Given the description of an element on the screen output the (x, y) to click on. 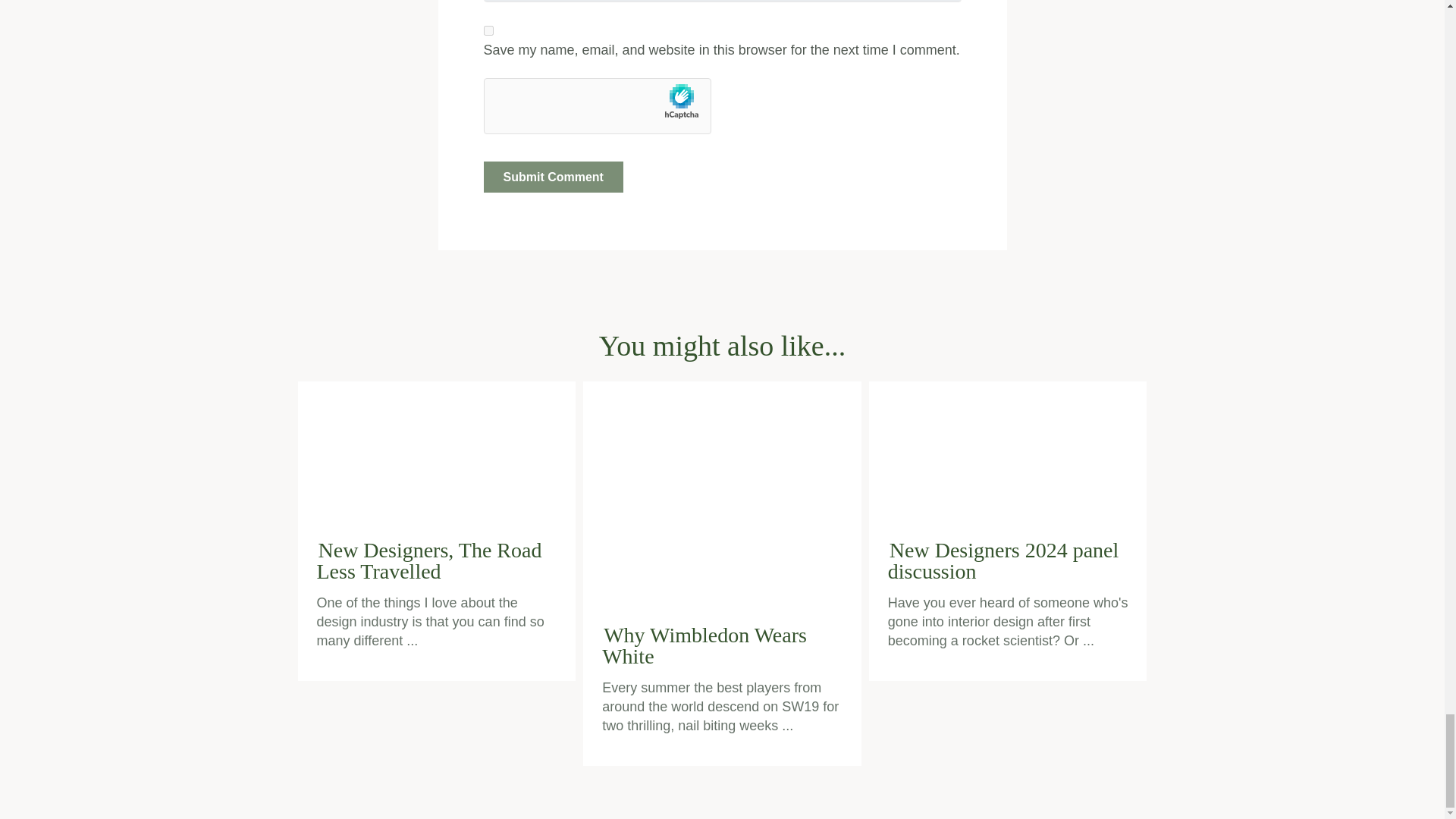
Why Wimbledon Wears White (704, 645)
New Designers 2024 panel discussion (1003, 560)
Why Wimbledon Wears White (724, 492)
Submit Comment (553, 176)
New Designers 2024 panel discussion (1009, 450)
New Designers, The Road Less Travelled (429, 560)
New Designers, The Road Less Travelled (437, 450)
yes (488, 30)
